Given the description of an element on the screen output the (x, y) to click on. 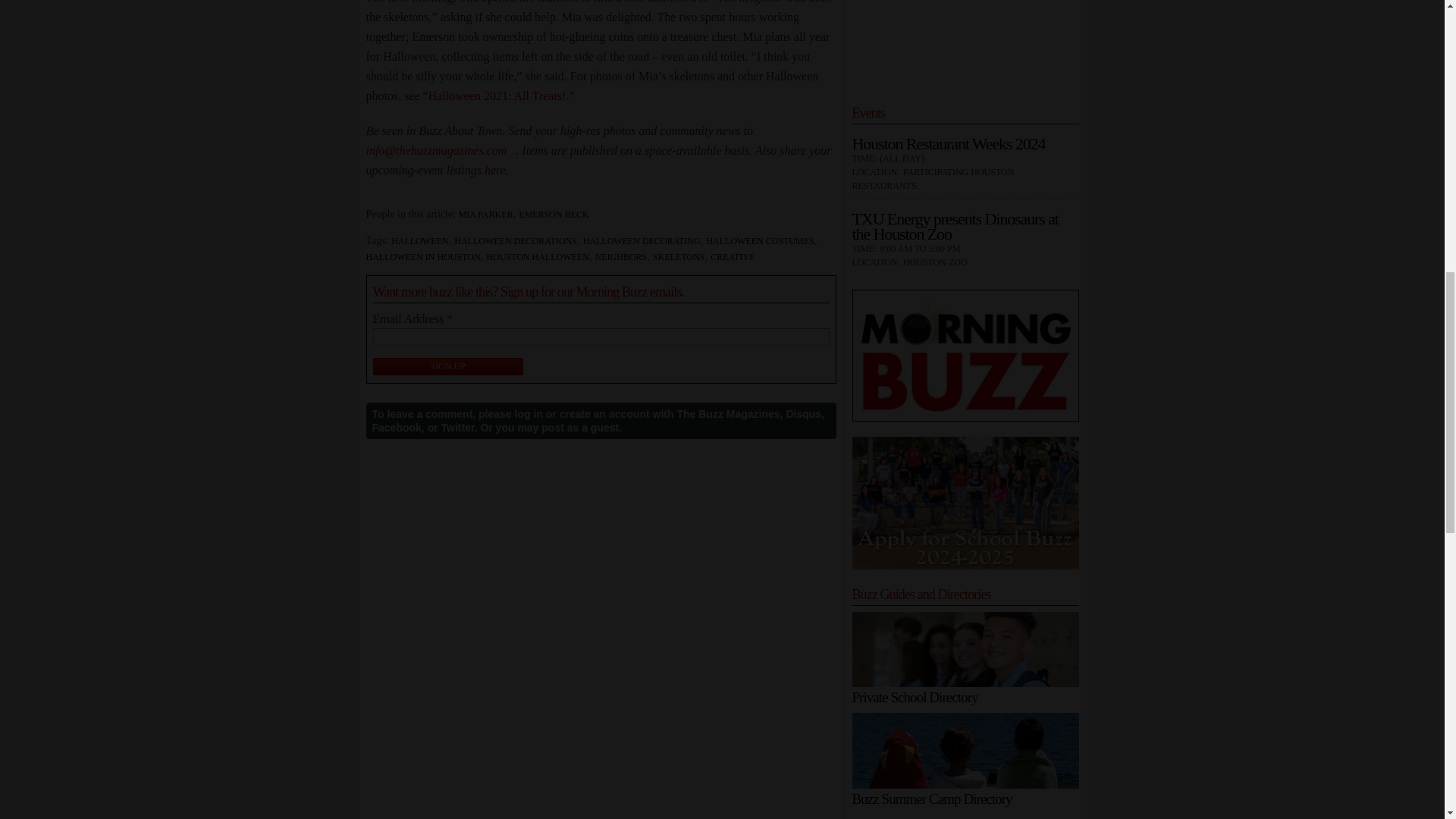
Private School Directory (964, 649)
Buzz Summer Camp Directory (964, 750)
Sign Up (448, 366)
3rd party ad content (965, 43)
Morning Buzz (964, 355)
School Buzz (964, 502)
